Given the description of an element on the screen output the (x, y) to click on. 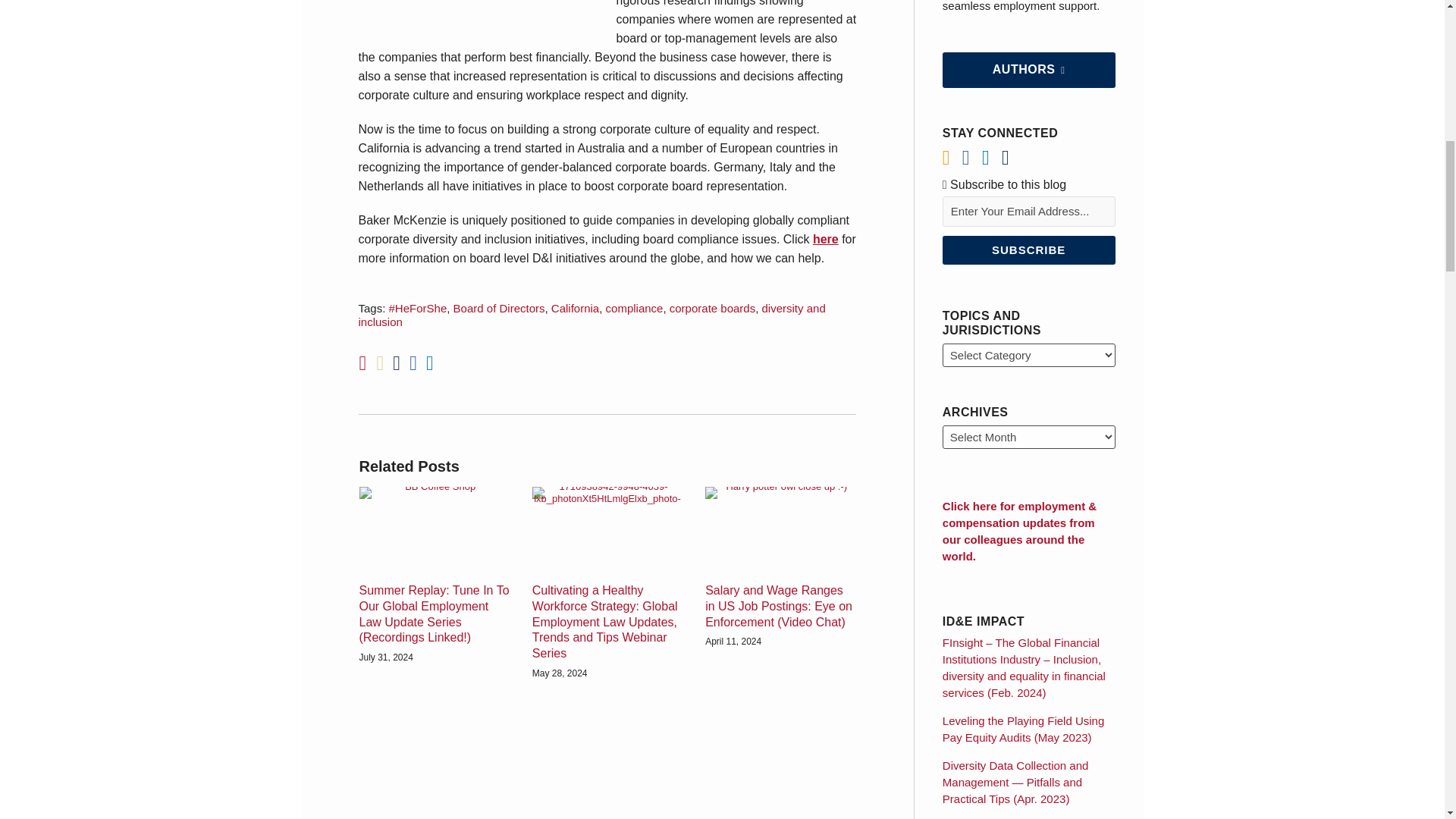
Subscribe (1028, 249)
Board of Directors (498, 308)
diversity and inclusion (591, 315)
corporate boards (712, 308)
compliance (634, 308)
California (574, 308)
here (825, 238)
